Given the description of an element on the screen output the (x, y) to click on. 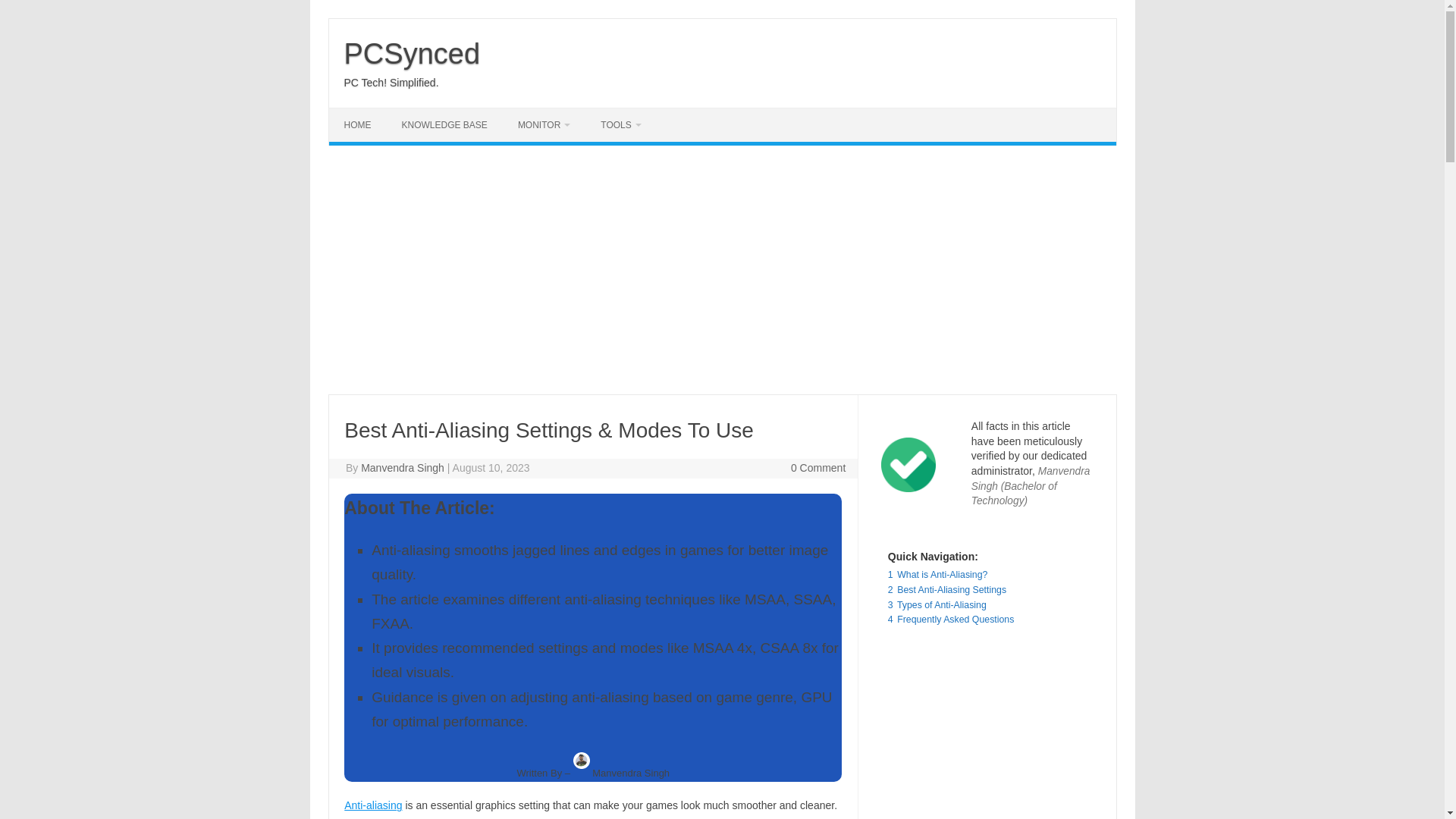
Posts by Manvendra Singh (402, 467)
Anti-aliasing (372, 805)
PC Tech! Simplified. (391, 82)
2 Best Anti-Aliasing Settings (947, 589)
PCSynced (411, 53)
1 What is Anti-Aliasing? (938, 574)
TOOLS (620, 124)
PCSynced (411, 53)
